Given the description of an element on the screen output the (x, y) to click on. 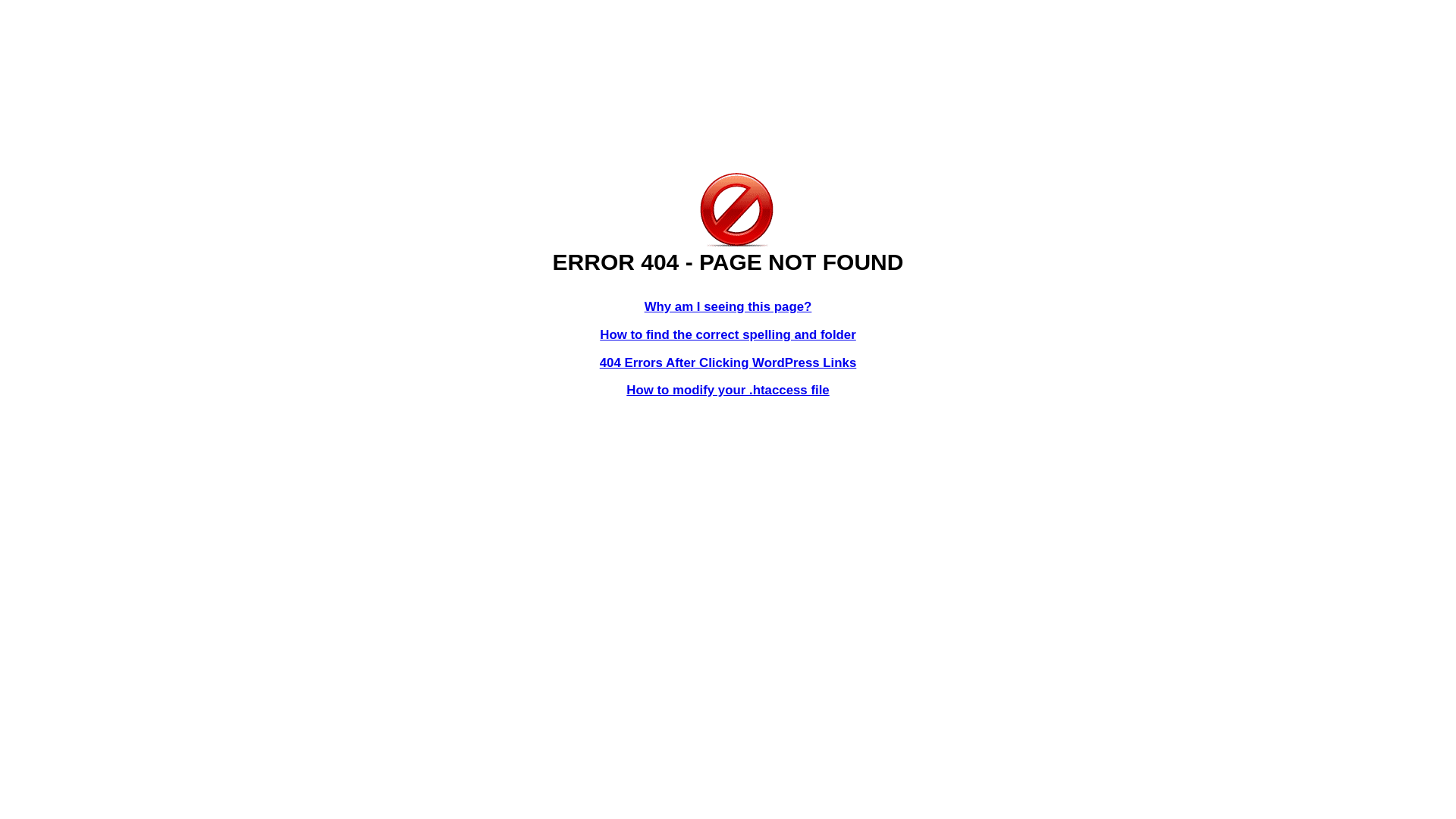
How to modify your .htaccess file Element type: text (727, 389)
Why am I seeing this page? Element type: text (728, 306)
404 Errors After Clicking WordPress Links Element type: text (727, 362)
How to find the correct spelling and folder Element type: text (727, 334)
